Given the description of an element on the screen output the (x, y) to click on. 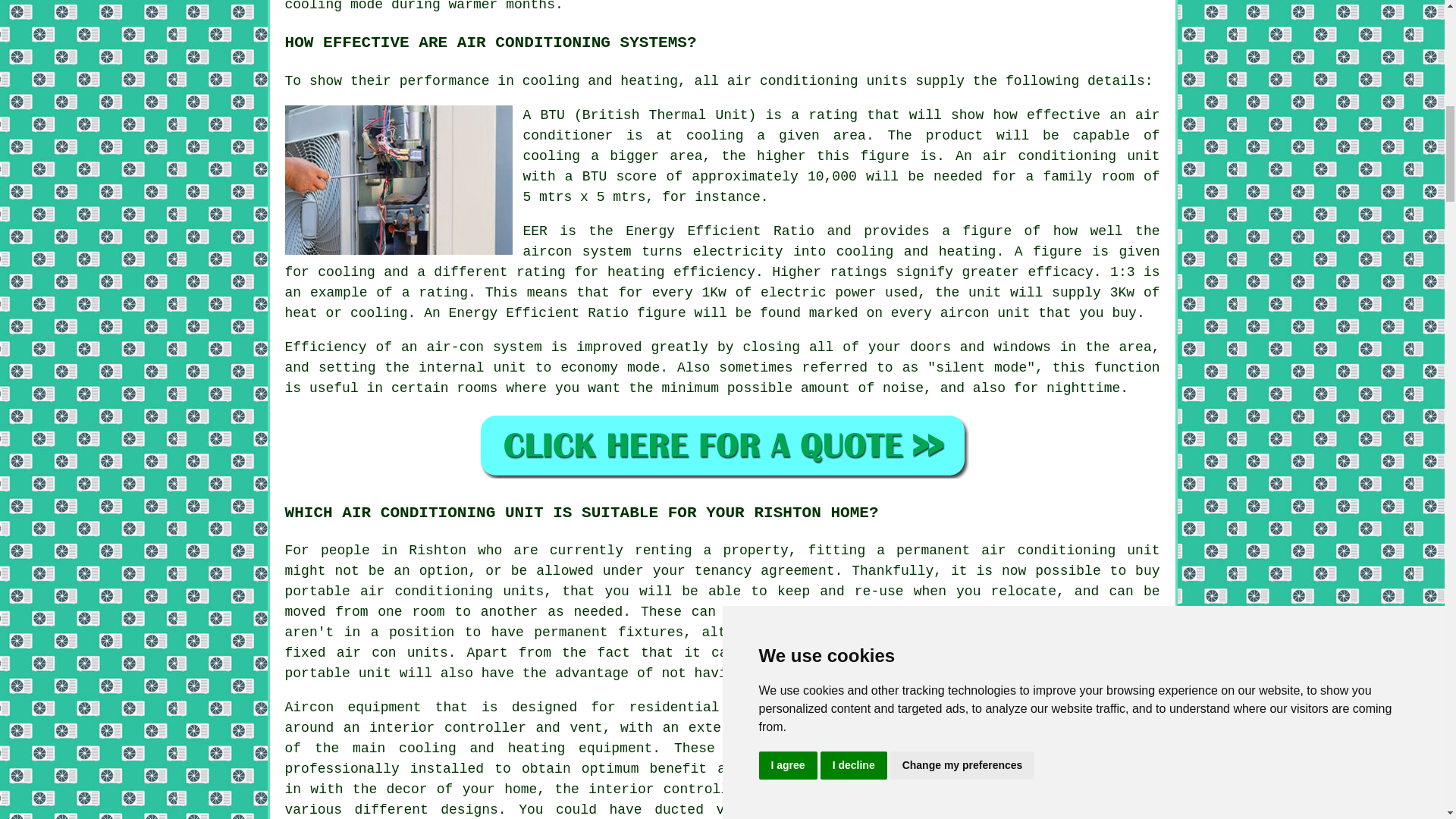
Air Conditioning Near Rishton Lancashire (1046, 758)
aircon (547, 251)
air conditioning (1048, 549)
Air Conditioning Quotes in Rishton Lancashire (722, 445)
